Given the description of an element on the screen output the (x, y) to click on. 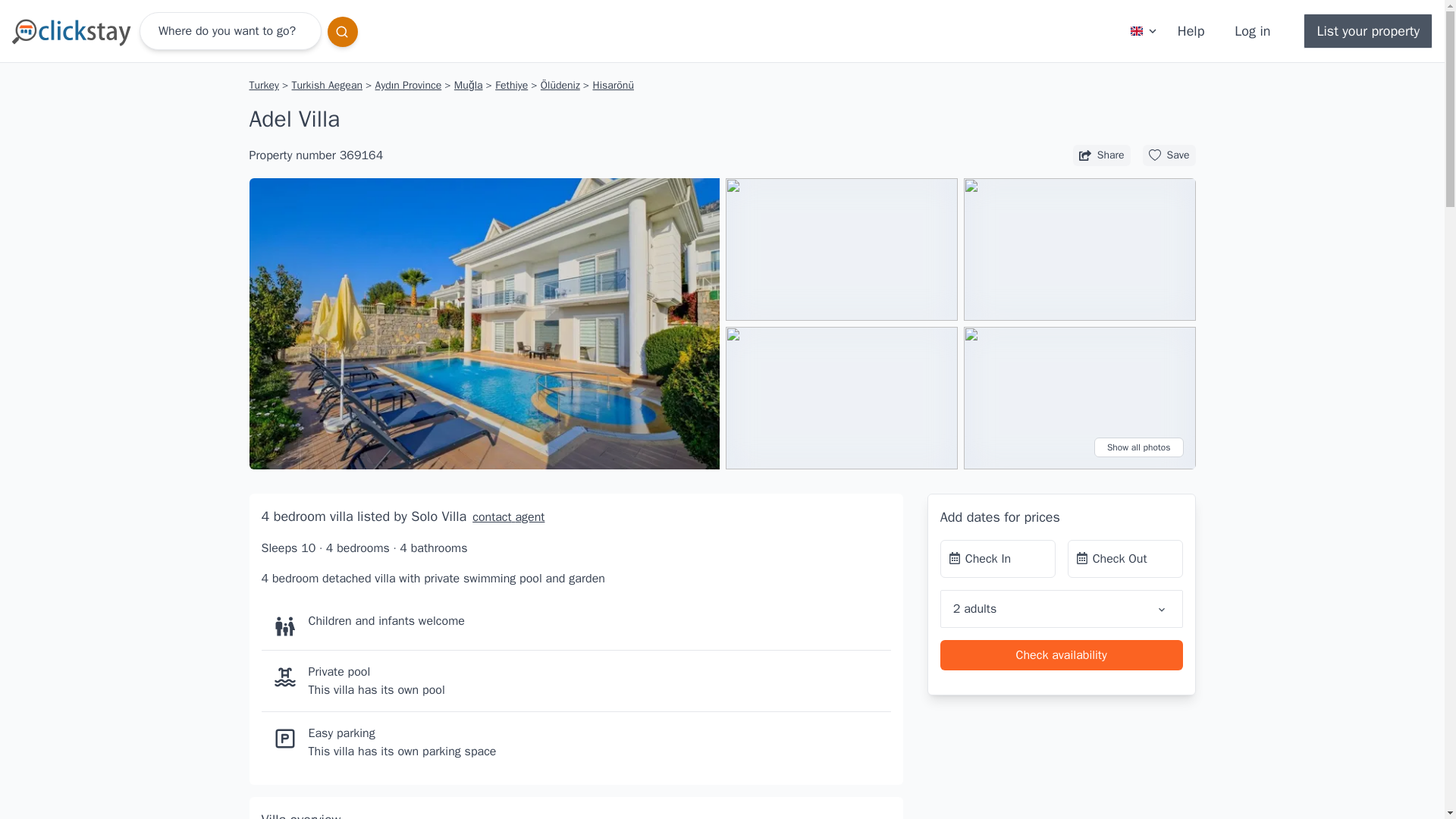
Search (342, 31)
Log in (1252, 30)
contact agent (504, 516)
List your property (1367, 30)
Fethiye (511, 84)
Turkey (264, 84)
Check Out (1124, 558)
Help (1191, 30)
Turkish Aegean (326, 84)
Check In (997, 558)
